Given the description of an element on the screen output the (x, y) to click on. 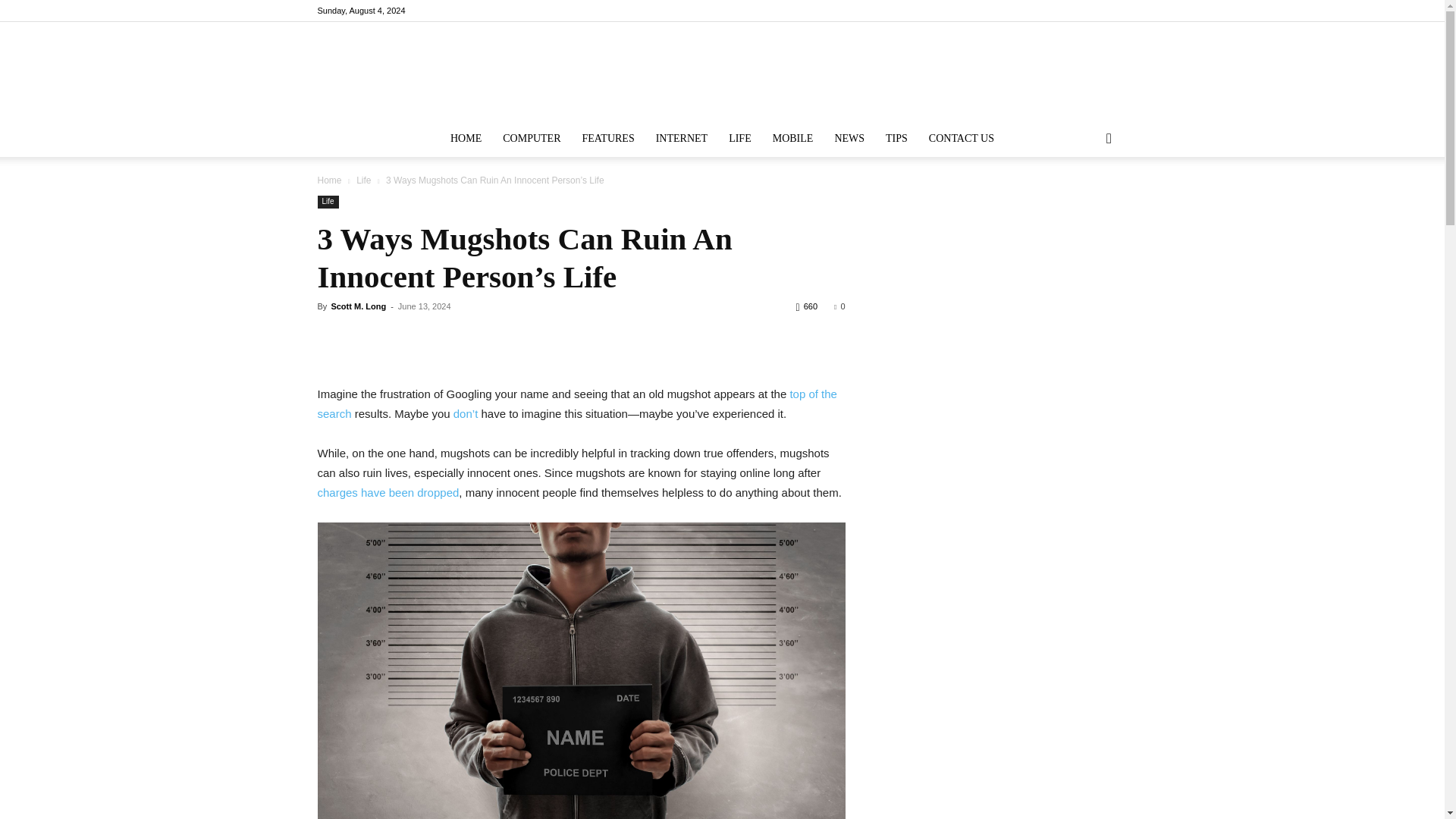
VKontakte (1090, 10)
View all posts in Life (363, 180)
Facebook (1015, 10)
Twitter (1040, 10)
Vimeo (1065, 10)
Youtube (1114, 10)
